Given the description of an element on the screen output the (x, y) to click on. 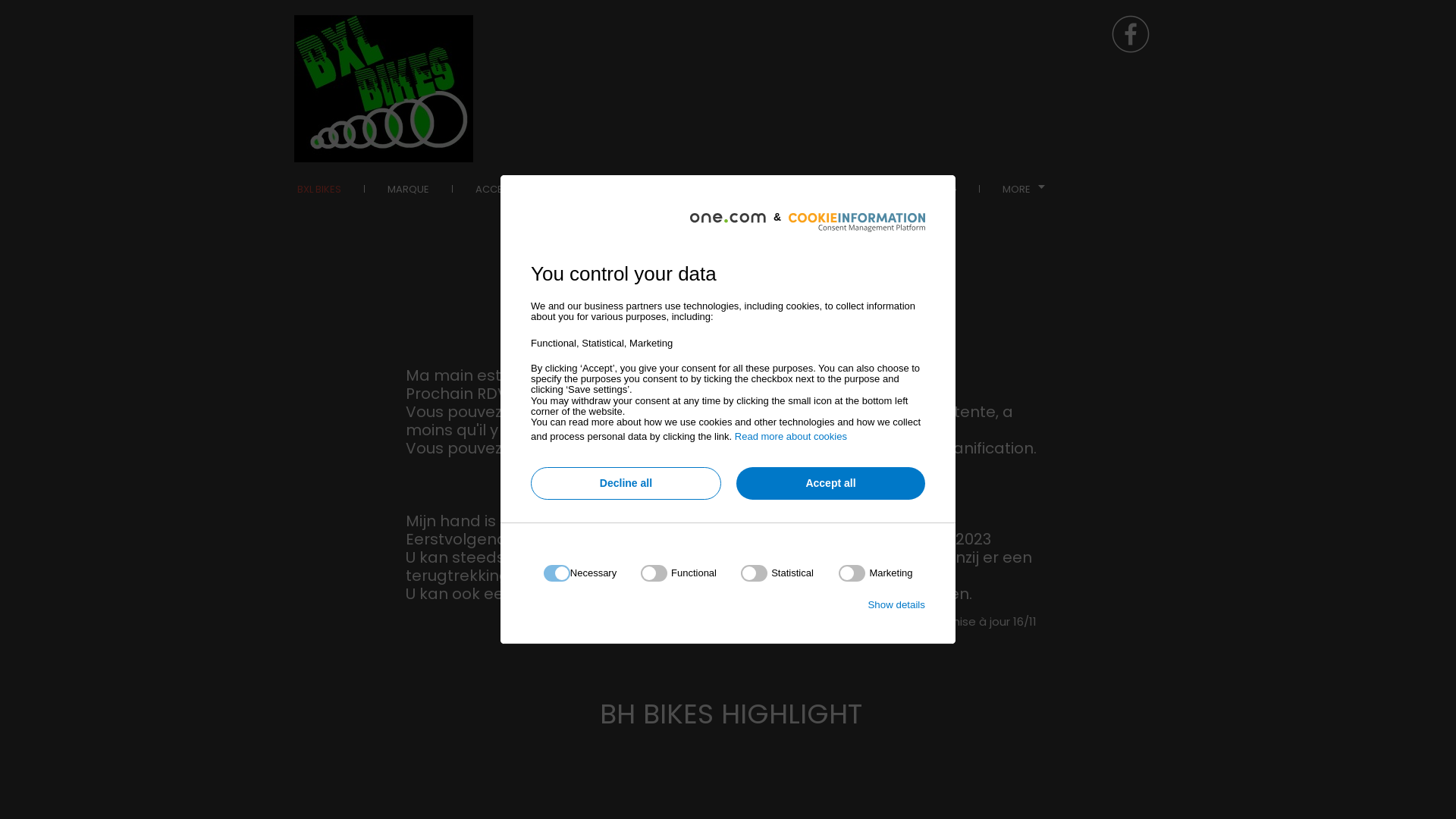
OCCASION Element type: text (779, 188)
on Element type: text (678, 572)
Decline all Element type: text (625, 483)
Accept all Element type: text (830, 483)
PARTENAIRES LEASING Element type: text (904, 188)
Show details Element type: text (896, 604)
Read more about cookies Element type: text (790, 436)
Functional Element type: text (723, 748)
on Element type: text (875, 572)
MORE Element type: text (1023, 188)
MARQUE Element type: text (408, 188)
BXL BIKES Element type: text (319, 188)
on Element type: text (776, 572)
ACCESSOIRES Element type: text (509, 188)
Necessary Element type: text (723, 658)
STOCK Element type: text (605, 188)
PROMO Element type: text (687, 188)
